Given the description of an element on the screen output the (x, y) to click on. 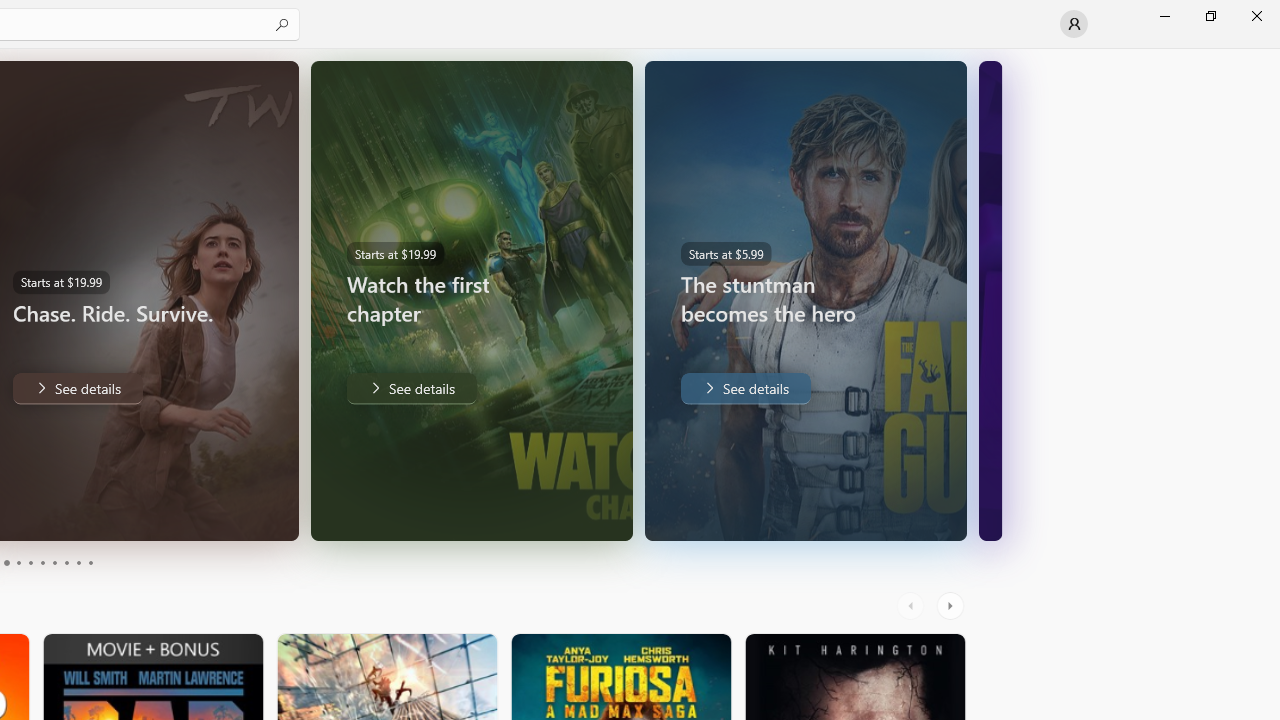
Page 5 (29, 562)
Page 10 (90, 562)
Restore Microsoft Store (1210, 15)
Page 6 (41, 562)
Close Microsoft Store (1256, 15)
Page 9 (77, 562)
Page 7 (54, 562)
Page 4 (17, 562)
Minimize Microsoft Store (1164, 15)
AutomationID: Image (989, 300)
AutomationID: RightScrollButton (952, 606)
Page 8 (65, 562)
Page 3 (5, 562)
